Given the description of an element on the screen output the (x, y) to click on. 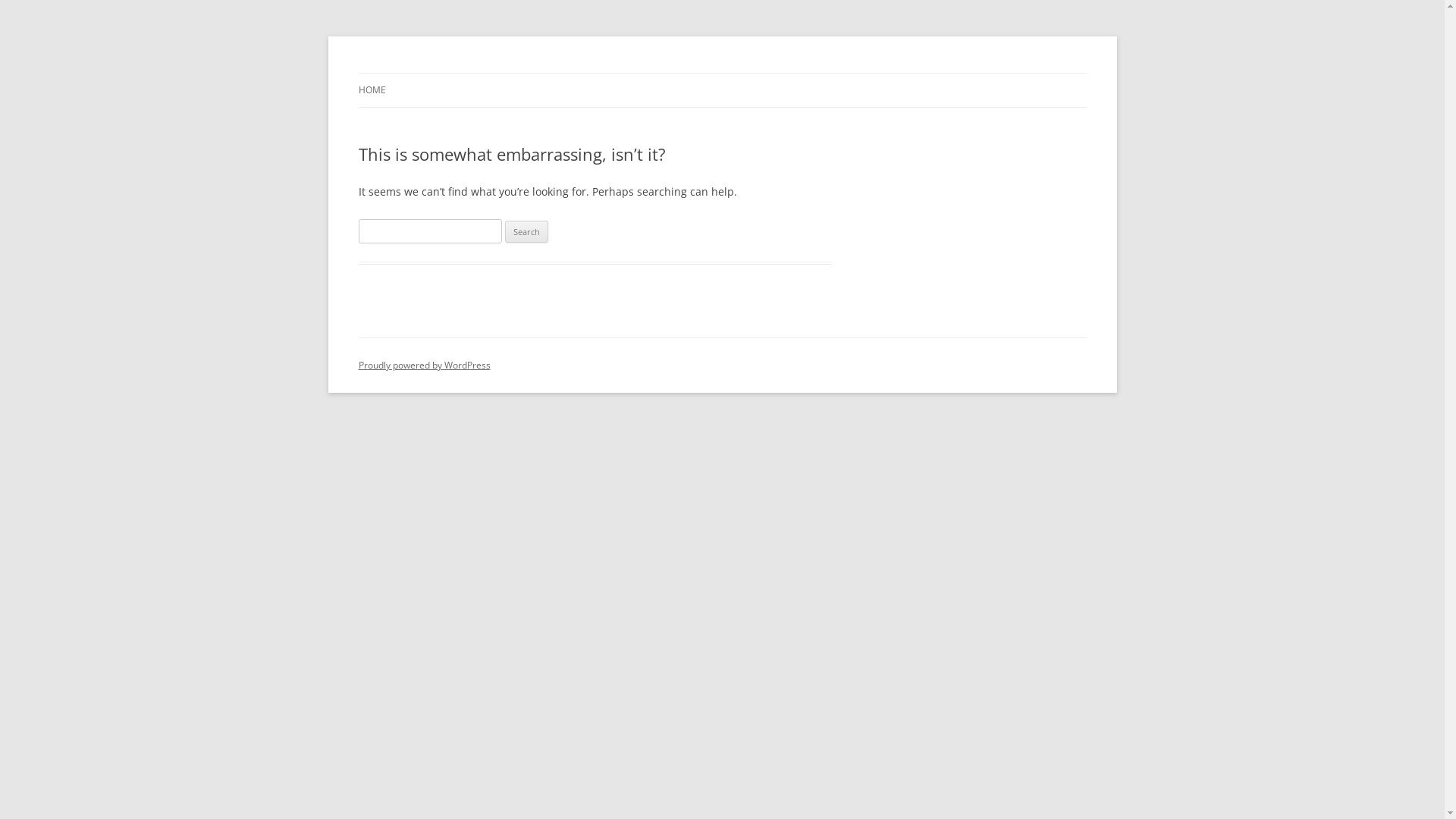
HOME Element type: text (371, 89)
Proudly powered by WordPress Element type: text (423, 364)
Commercial Insurance Element type: text (468, 72)
Search Element type: text (526, 231)
Skip to content Element type: text (721, 72)
